Given the description of an element on the screen output the (x, y) to click on. 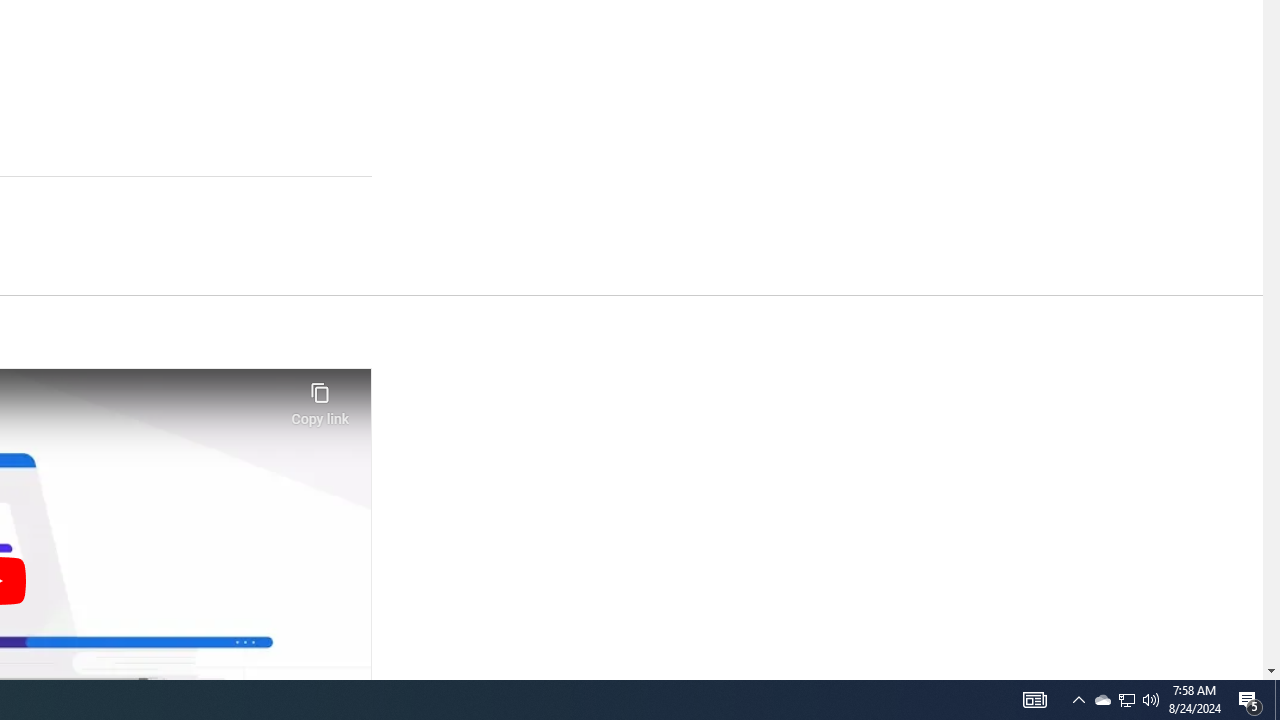
Copy link (319, 398)
